Given the description of an element on the screen output the (x, y) to click on. 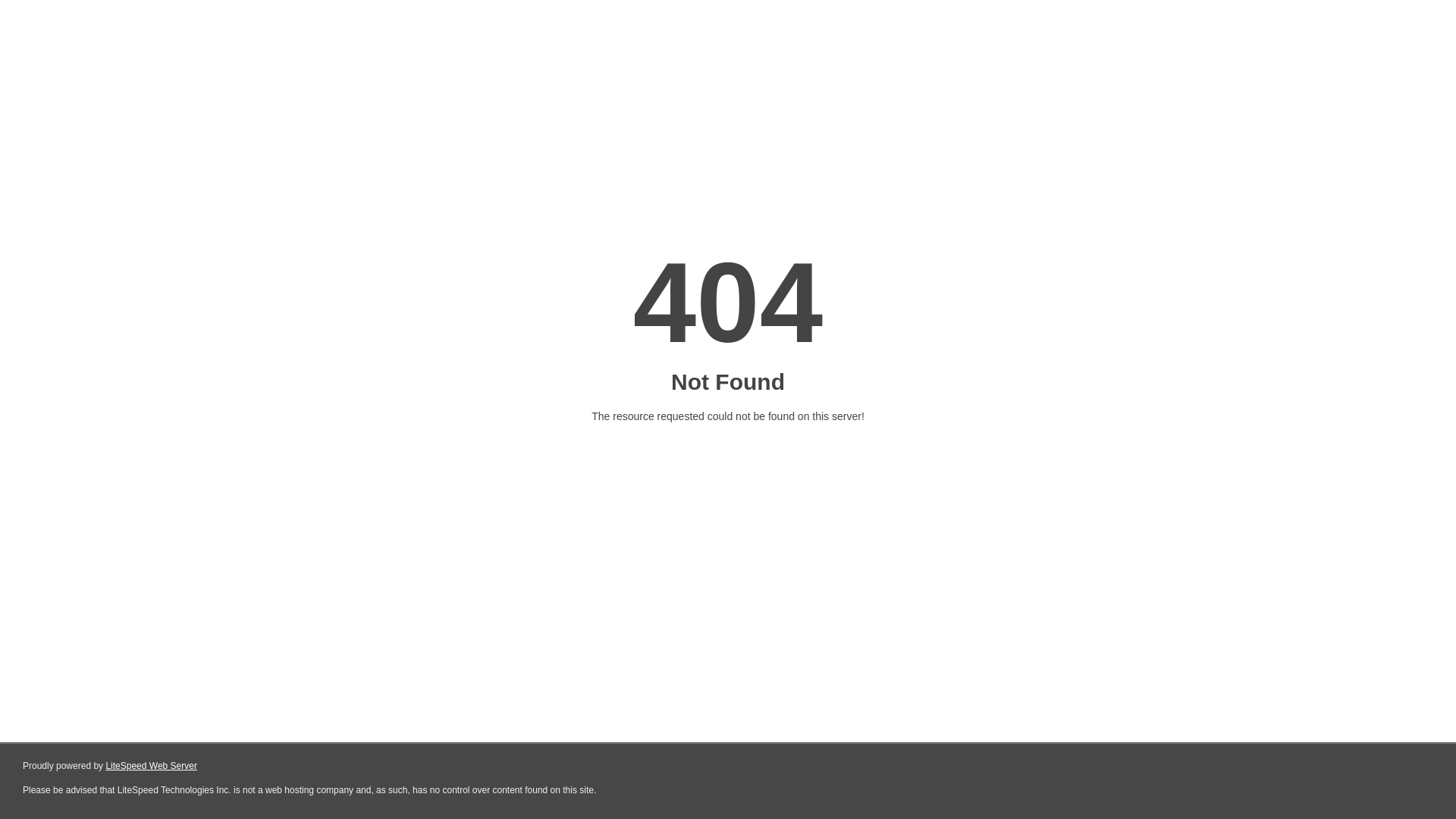
LiteSpeed Web Server Element type: text (151, 765)
